Given the description of an element on the screen output the (x, y) to click on. 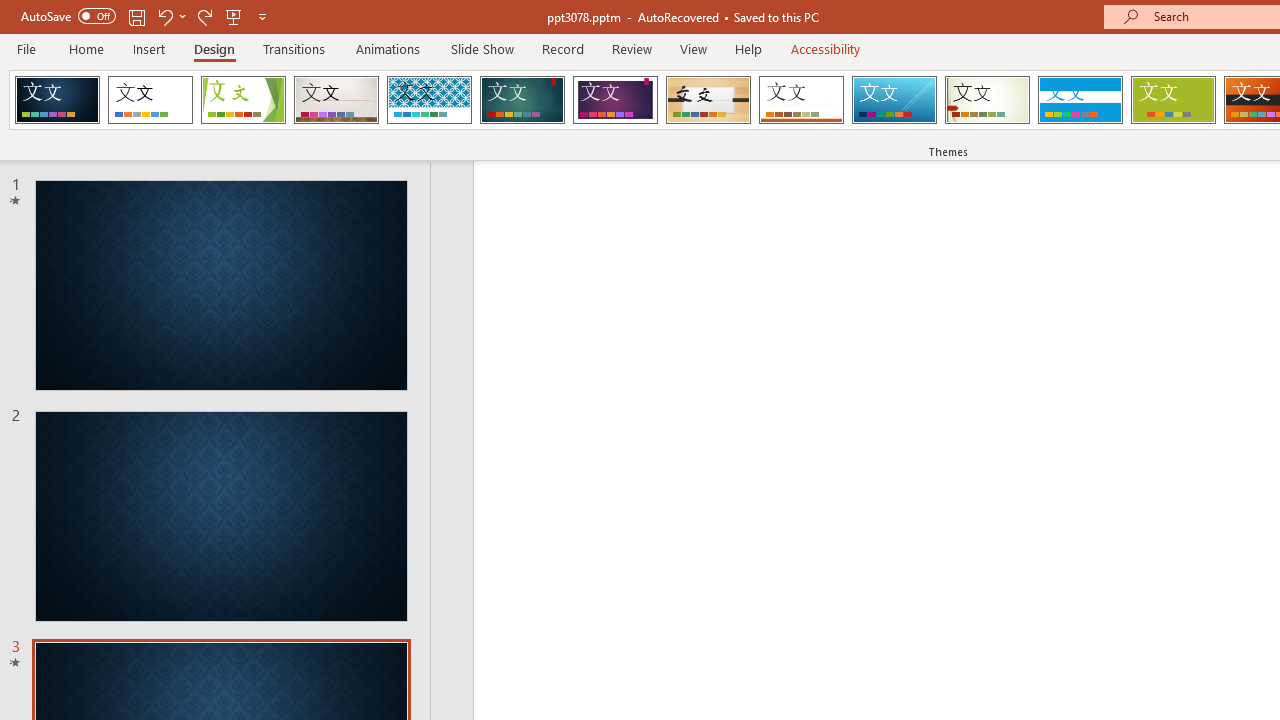
Ion Boardroom (615, 100)
Organic (708, 100)
Facet (243, 100)
